Given the description of an element on the screen output the (x, y) to click on. 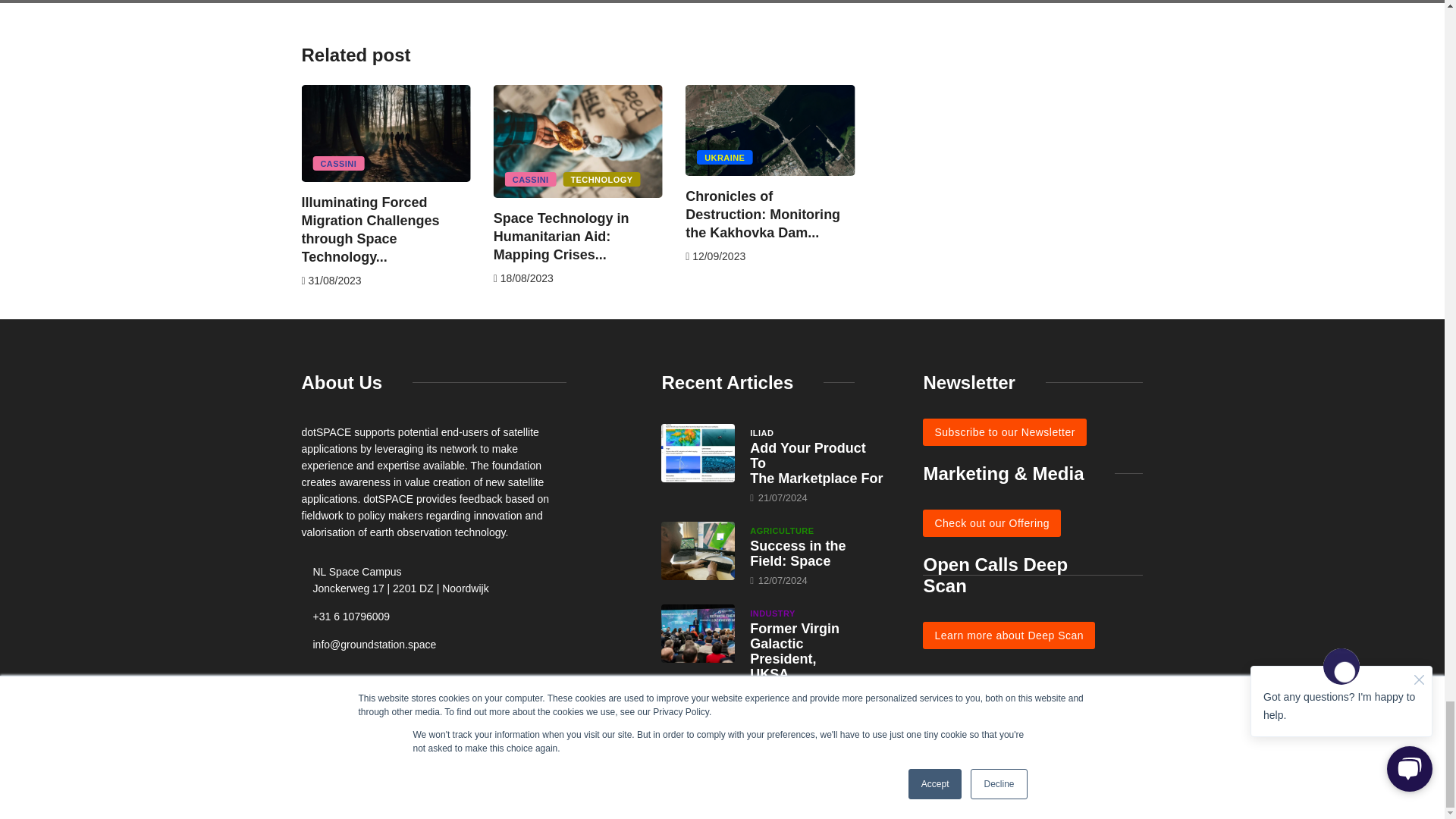
Success in the Field: Space for Water and Food Security (698, 550)
